Given the description of an element on the screen output the (x, y) to click on. 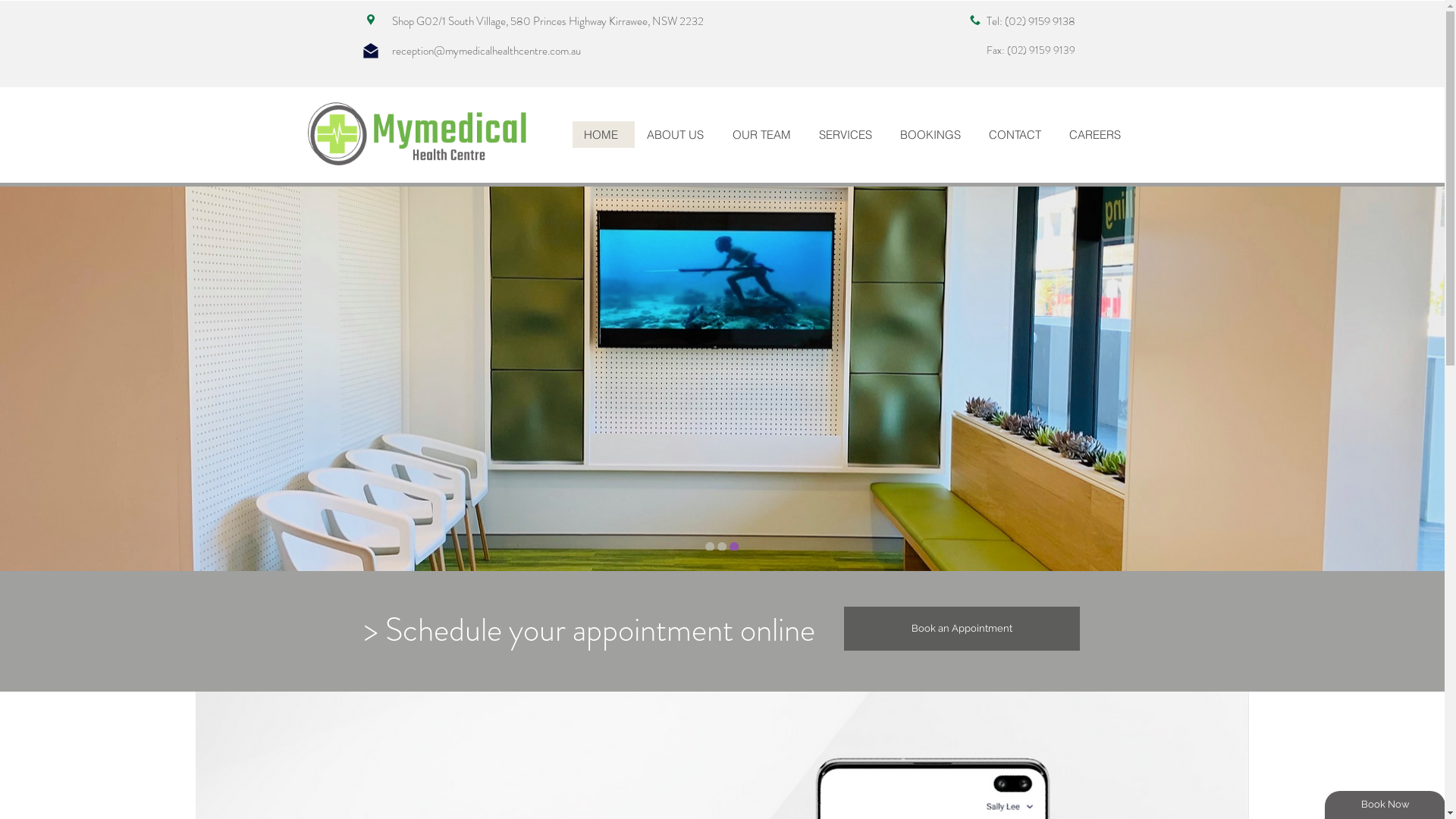
OUR TEAM Element type: text (763, 134)
CONTACT Element type: text (1016, 134)
BOOKINGS Element type: text (931, 134)
ABOUT US Element type: text (676, 134)
HOME Element type: text (602, 134)
SERVICES Element type: text (847, 134)
reception@mymedicalhealthcentre.com.au Element type: text (485, 50)
Book an Appointment Element type: text (961, 628)
CAREERS Element type: text (1096, 134)
